Given the description of an element on the screen output the (x, y) to click on. 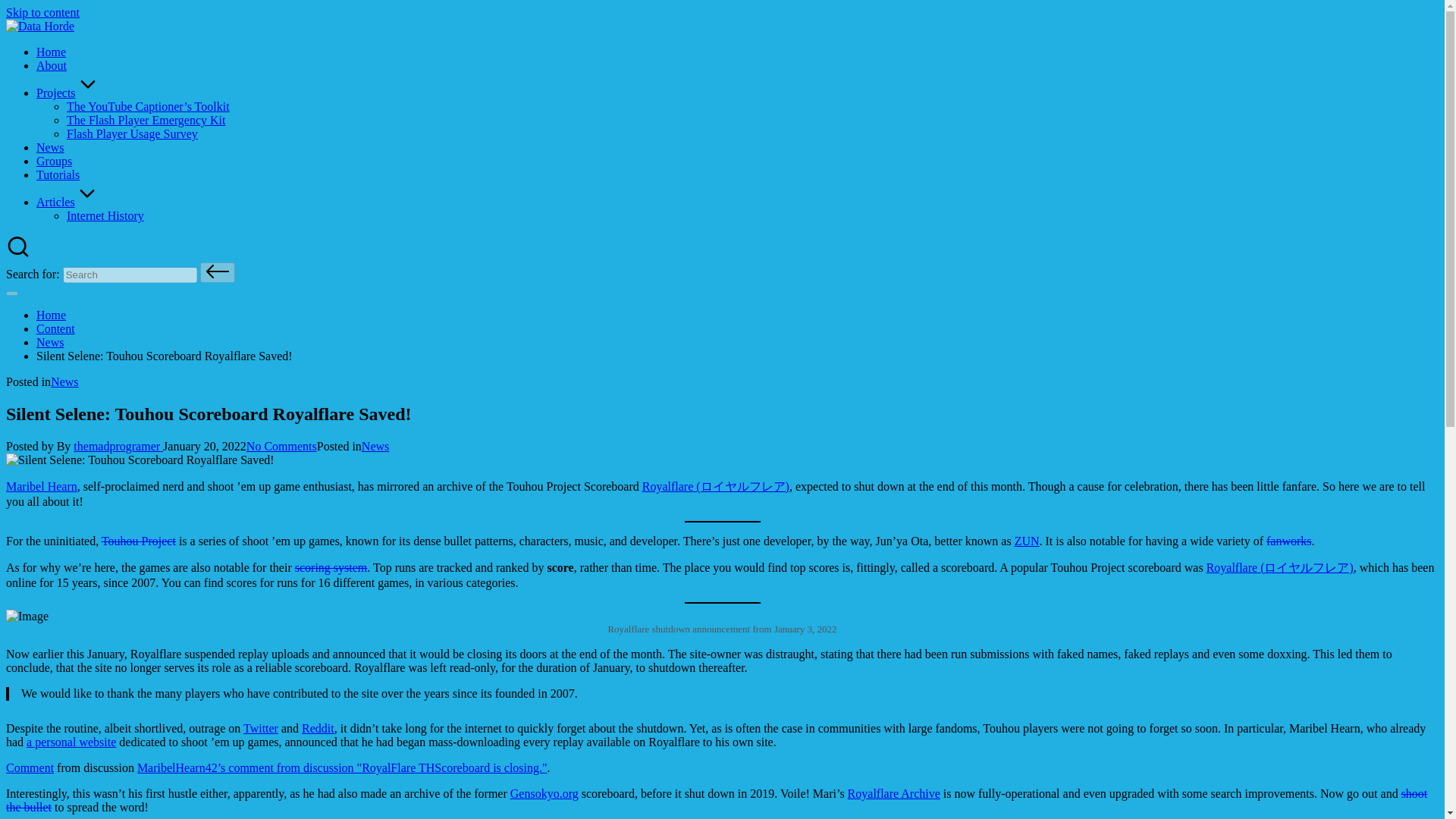
shoot the bullet (715, 800)
Home (50, 314)
Comment (29, 767)
Archiving and Preservation Projects (68, 92)
Groups (53, 160)
Flash Player Usage Survey (132, 133)
Content (55, 328)
News (374, 445)
News related to archiving and preservation (50, 146)
Articles (67, 201)
